Given the description of an element on the screen output the (x, y) to click on. 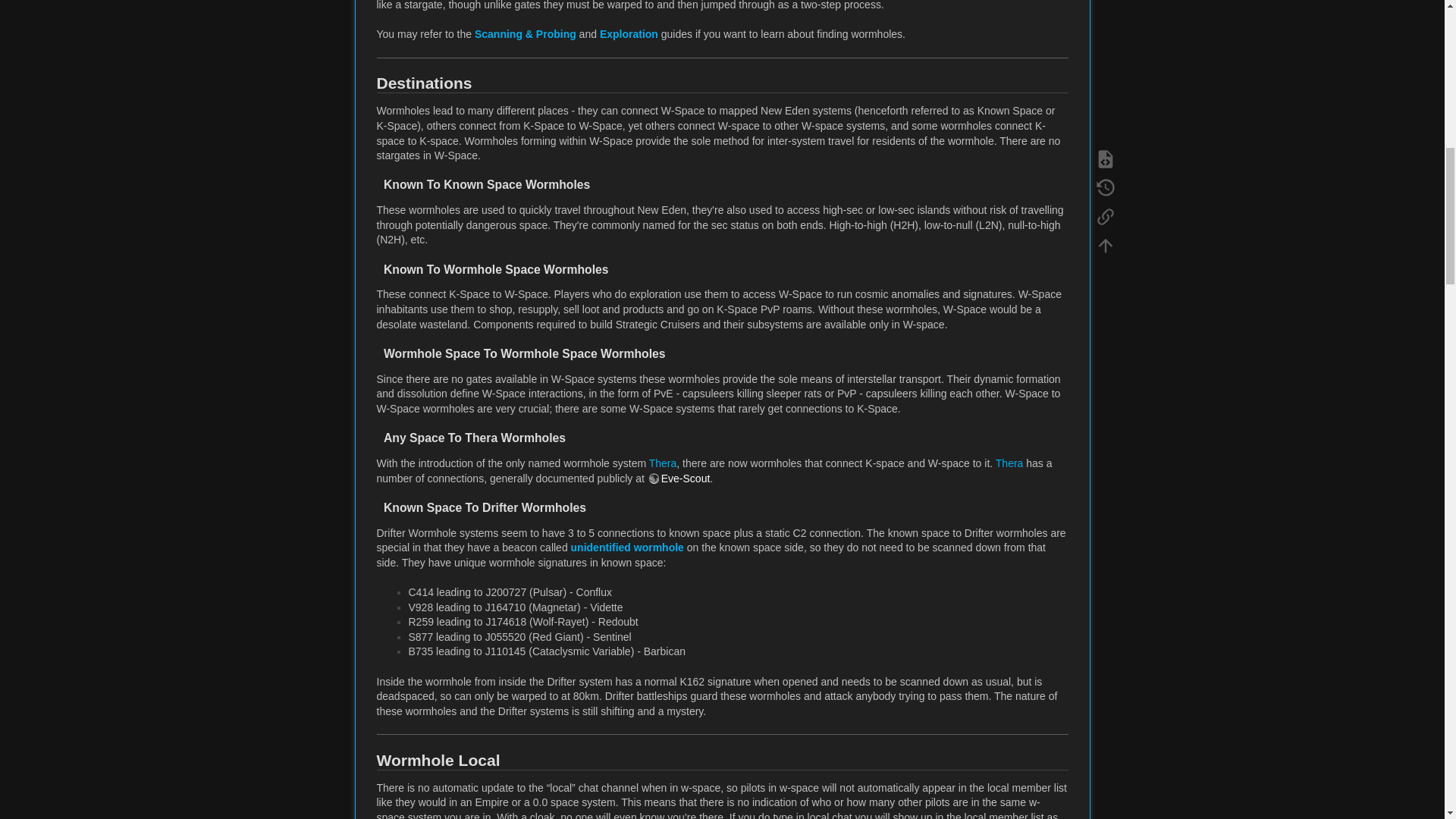
eve:wormholes:thera (1009, 463)
eve:wormholes:thera (663, 463)
Exploration (628, 33)
eve:pve:exploration:start (628, 33)
